Given the description of an element on the screen output the (x, y) to click on. 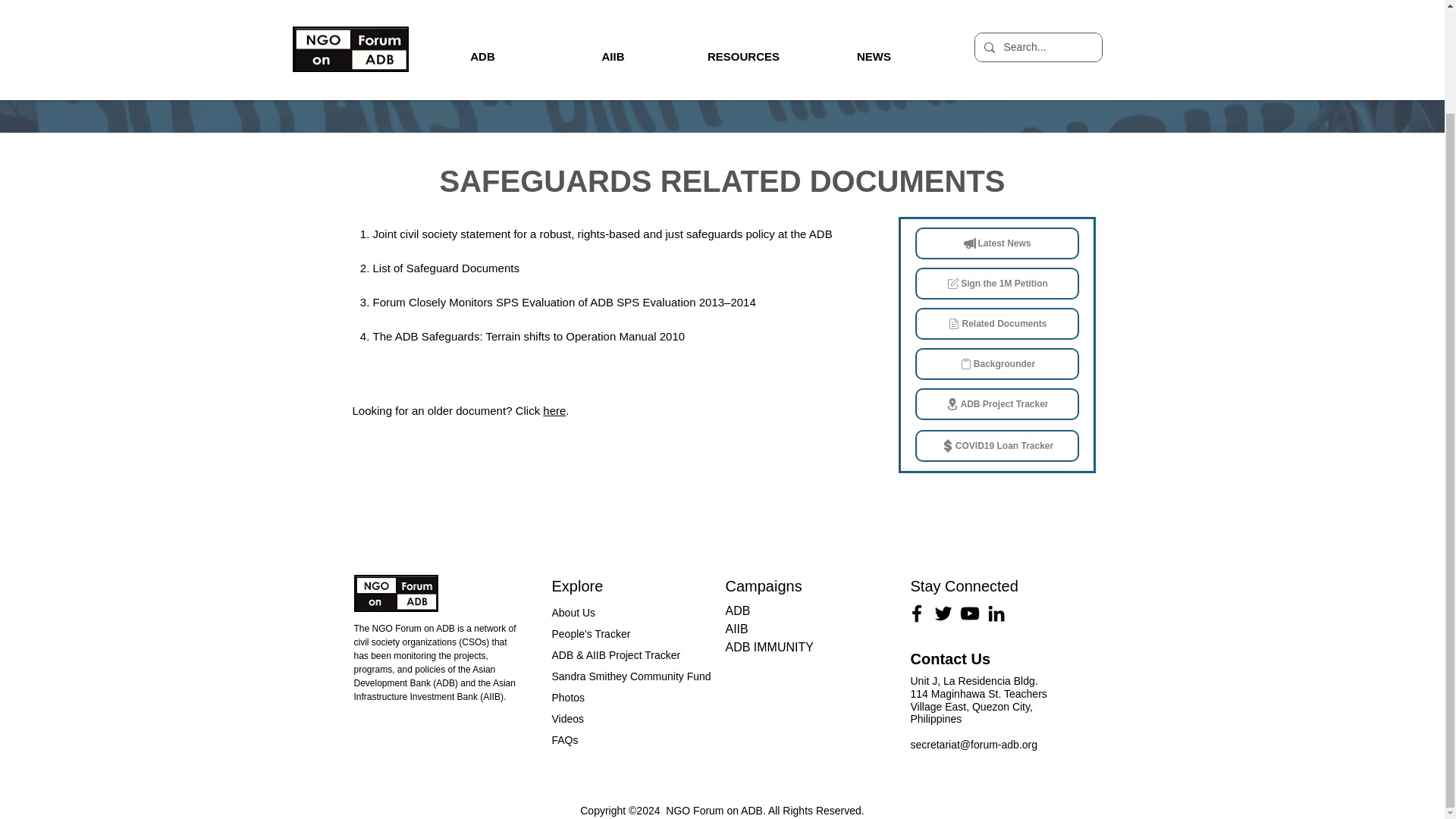
Strategy 2030 (1095, 74)
Sign the 1M Petition (996, 283)
Backgrounder (996, 364)
Accountability Mechanism (932, 74)
COVID19 Loan Tracker (996, 445)
Project Monitoring (330, 74)
Latest News (996, 243)
Sandra Smithey Community Fund (631, 676)
List of Safeguard Documents (445, 267)
Photos (568, 697)
